Given the description of an element on the screen output the (x, y) to click on. 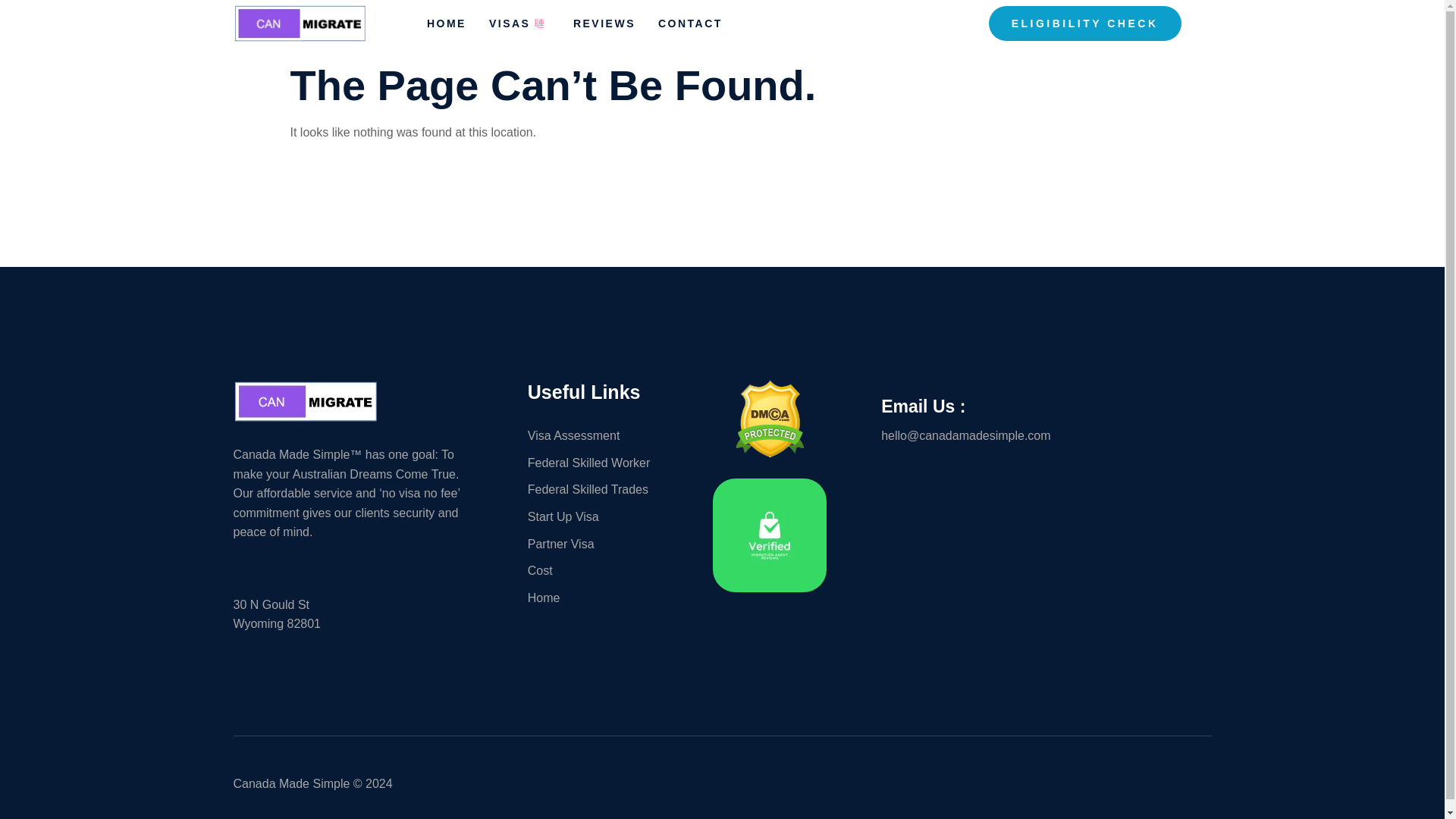
Home (599, 598)
Federal Skilled Worker (599, 463)
Federal Skilled Trades (599, 489)
ELIGIBILITY CHECK (1084, 23)
VISAS (531, 27)
HOME (457, 27)
Partner Visa (599, 544)
CONTACT (701, 27)
Visa Assessment (599, 435)
Start Up Visa (599, 516)
DMCA.com Protection Status (770, 452)
Cost (599, 570)
REVIEWS (615, 27)
